Given the description of an element on the screen output the (x, y) to click on. 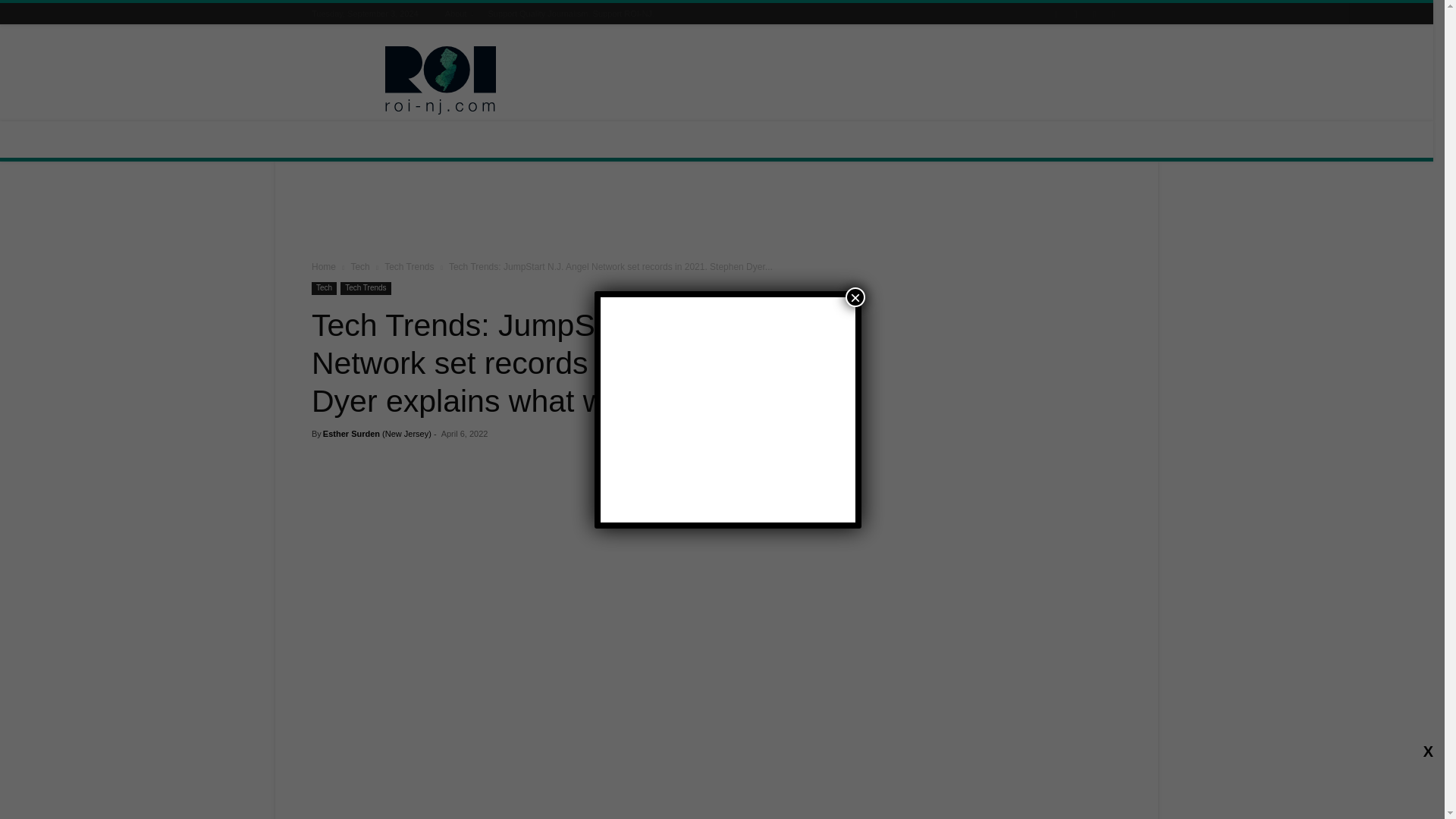
View all posts in Tech Trends (408, 266)
View all posts in Tech (359, 266)
